Given the description of an element on the screen output the (x, y) to click on. 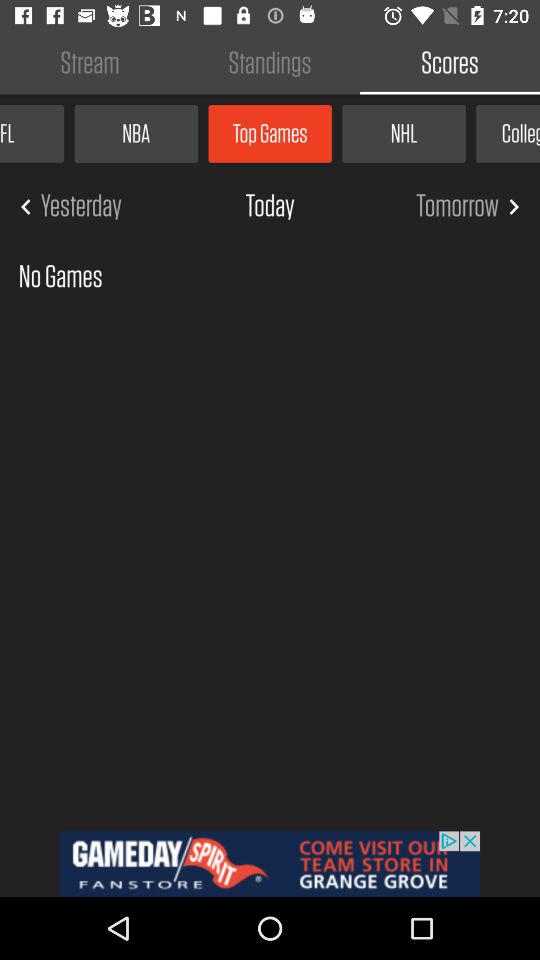
advertisements (270, 864)
